Given the description of an element on the screen output the (x, y) to click on. 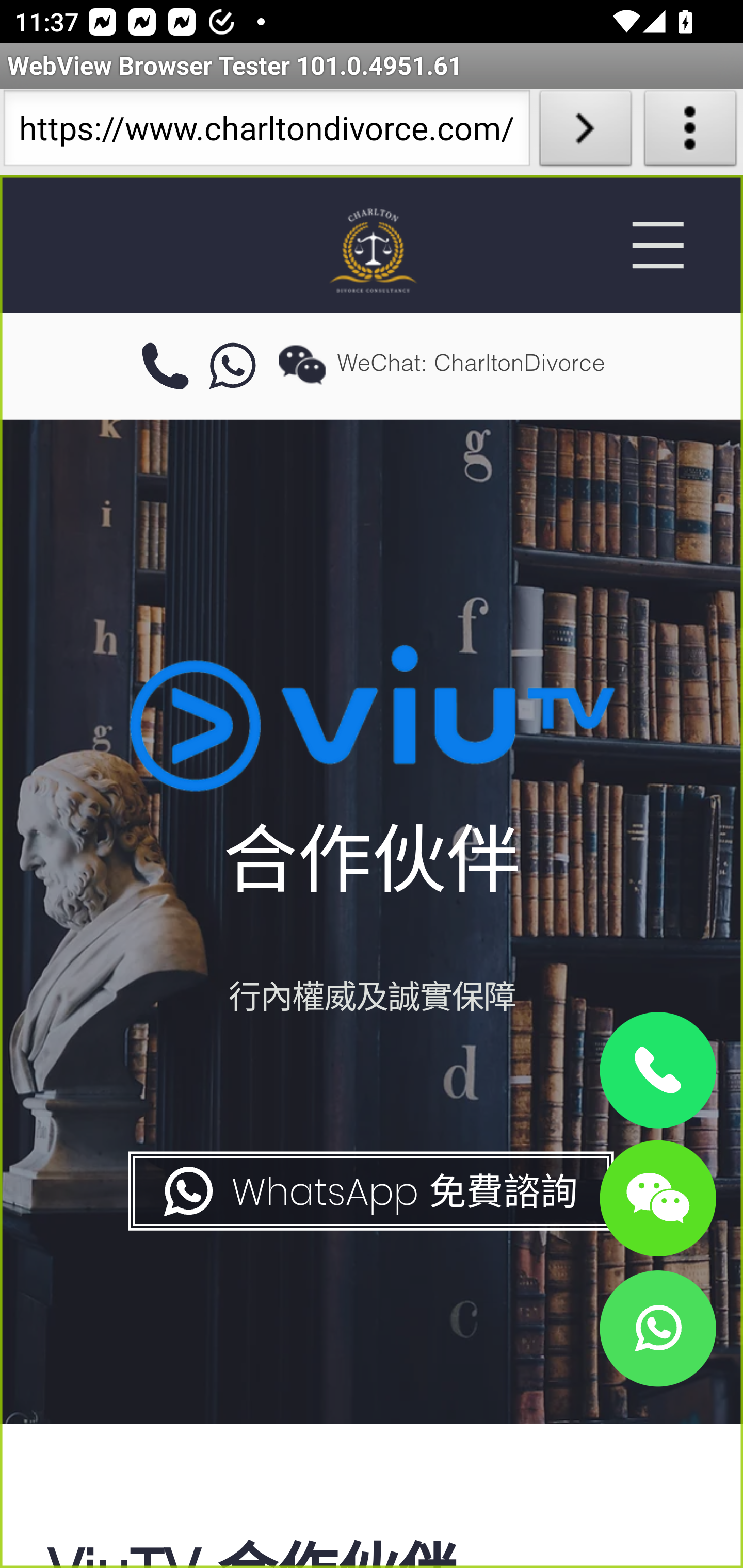
Load URL (585, 132)
About WebView (690, 132)
Open navigation menu (657, 245)
500x500 沒背景.png (371, 249)
tel:+852 9692 7577 (164, 366)
o7rumn (232, 366)
wechat2_edited_edited.png (301, 364)
Phone (657, 1070)
WeChat: CharltonDivorce (657, 1196)
WhatsApp 免費諮詢 (369, 1191)
WhatsApp (657, 1327)
